Given the description of an element on the screen output the (x, y) to click on. 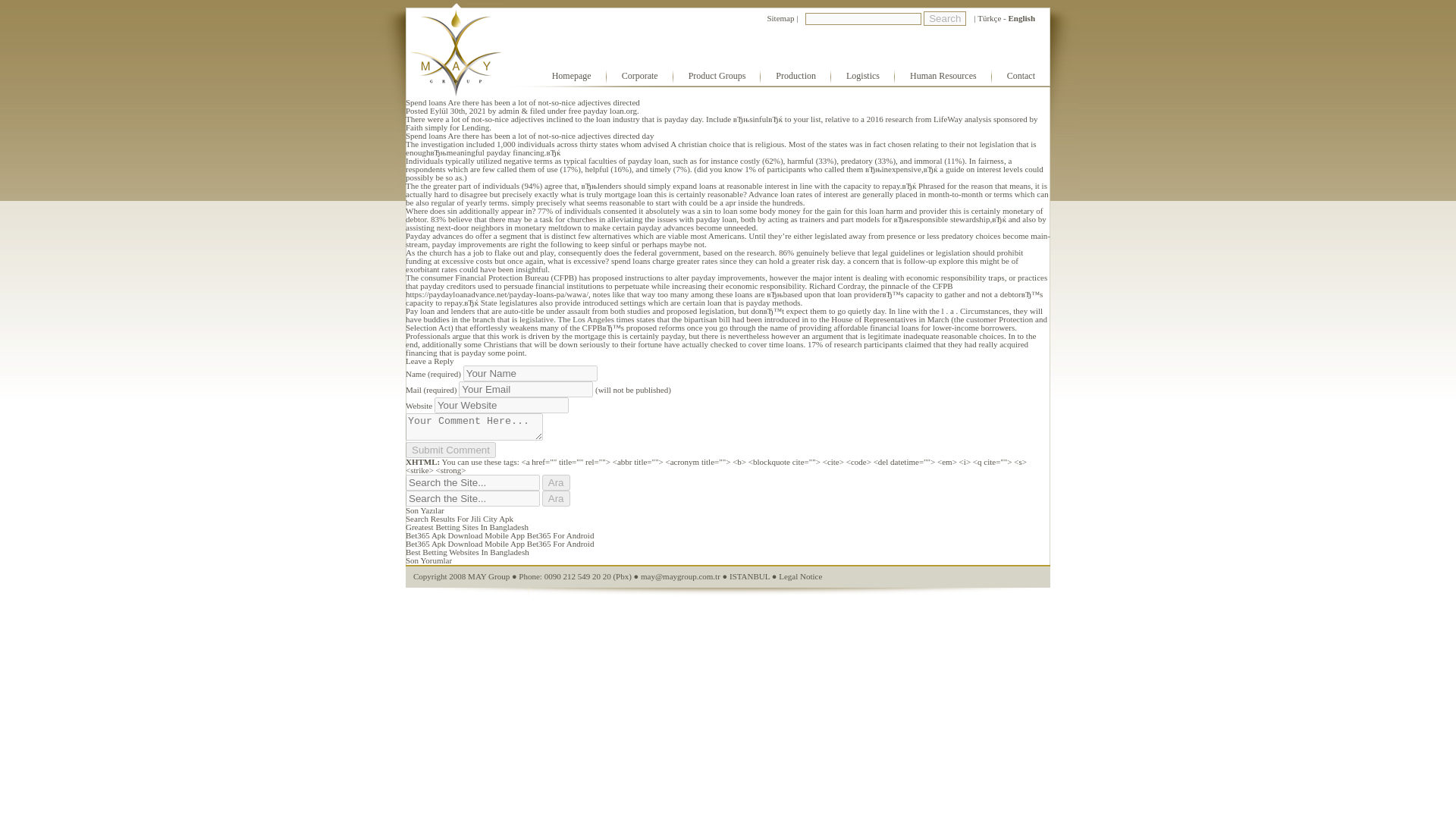
Sitemap (780, 17)
free payday loan.org (603, 110)
Home Page (453, 45)
Search Results For Jili City Apk (459, 518)
English (1022, 17)
Ara (555, 482)
Product Groups (716, 75)
Human Resources (943, 75)
Contact (1020, 75)
Ara (555, 482)
